Given the description of an element on the screen output the (x, y) to click on. 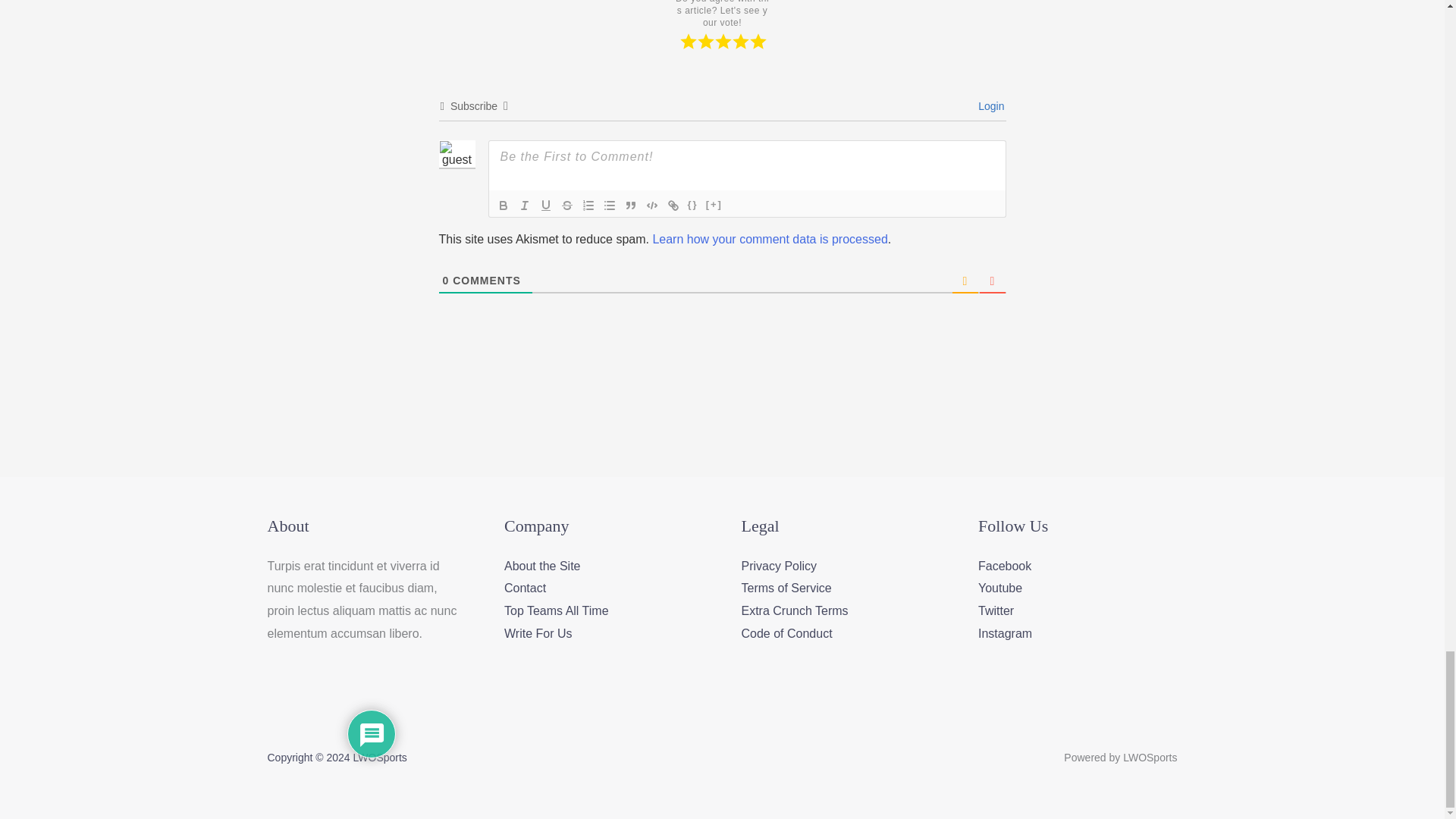
Underline (545, 205)
Unordered List (609, 205)
Strike (567, 205)
Source Code (692, 205)
Italic (524, 205)
Bold (503, 205)
Blockquote (631, 205)
Ordered List (588, 205)
Code Block (652, 205)
Spoiler (713, 205)
